Given the description of an element on the screen output the (x, y) to click on. 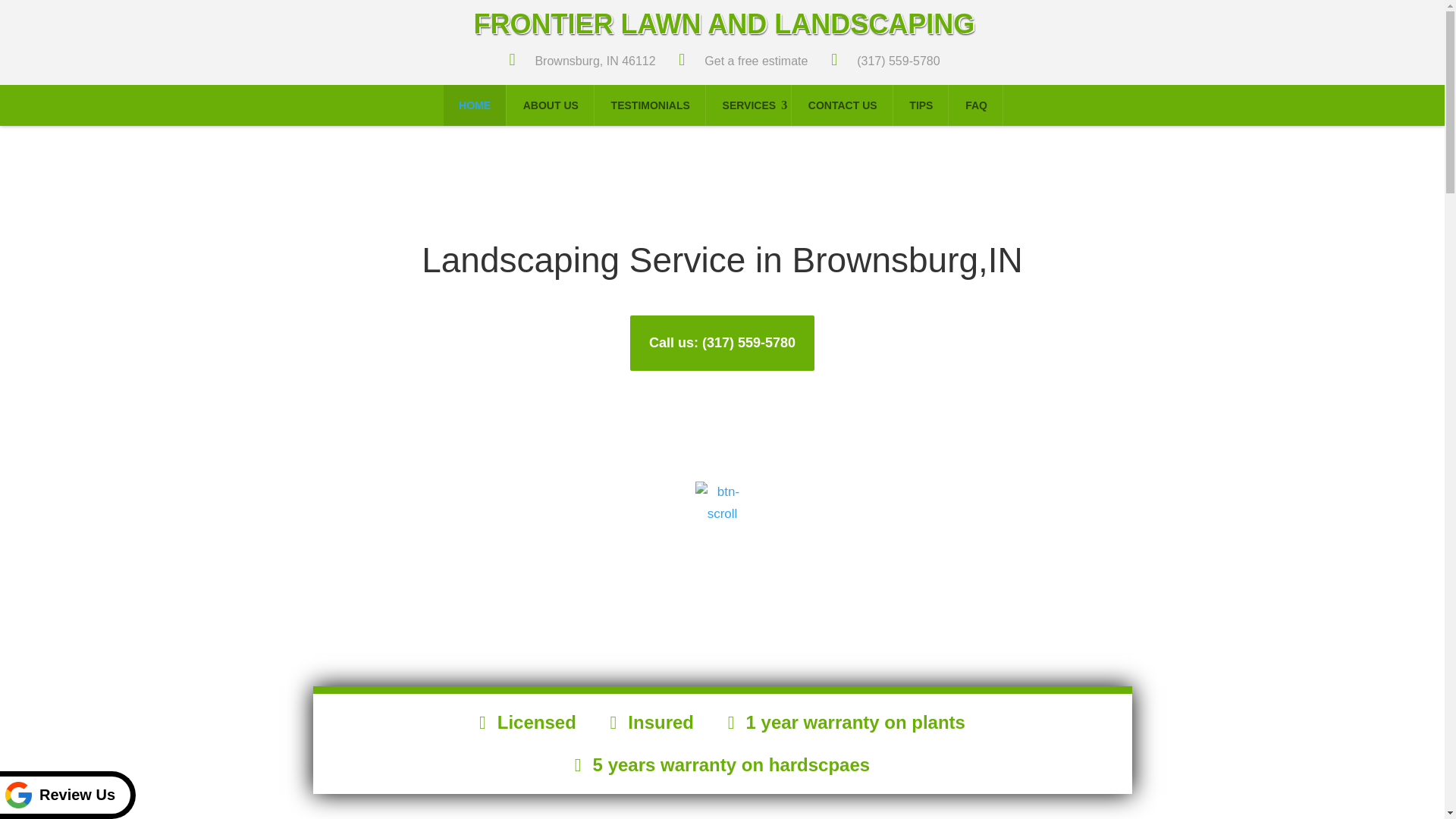
FRONTIER LAWN AND LANDSCAPING (724, 23)
Review Us (67, 795)
ABOUT US (551, 105)
TIPS (921, 105)
FAQ (976, 105)
HOME (475, 105)
CONTACT US (843, 105)
Get a free estimate (741, 60)
SERVICES (749, 105)
TESTIMONIALS (650, 105)
